Given the description of an element on the screen output the (x, y) to click on. 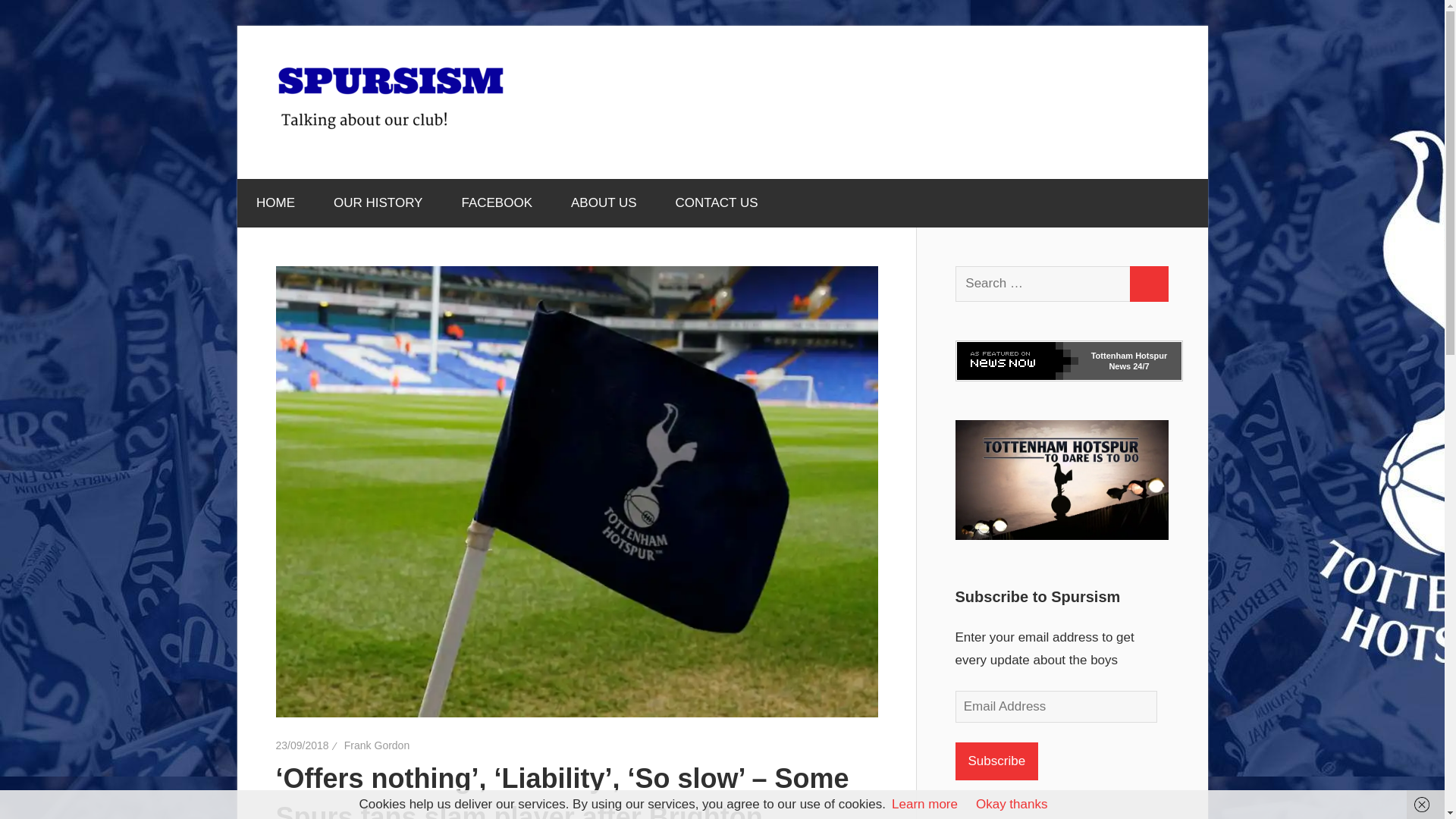
Search for: (1043, 283)
Click here for more Tottenham Hotspur news from NewsNow (1128, 361)
FACEBOOK (496, 203)
Subscribe (997, 761)
Frank Gordon (376, 745)
ABOUT US (603, 203)
Search (1148, 283)
CONTACT US (716, 203)
12:29 pm (302, 745)
HOME (274, 203)
Learn more (924, 803)
View all posts by Frank Gordon (376, 745)
OUR HISTORY (377, 203)
Okay thanks (1011, 803)
